Given the description of an element on the screen output the (x, y) to click on. 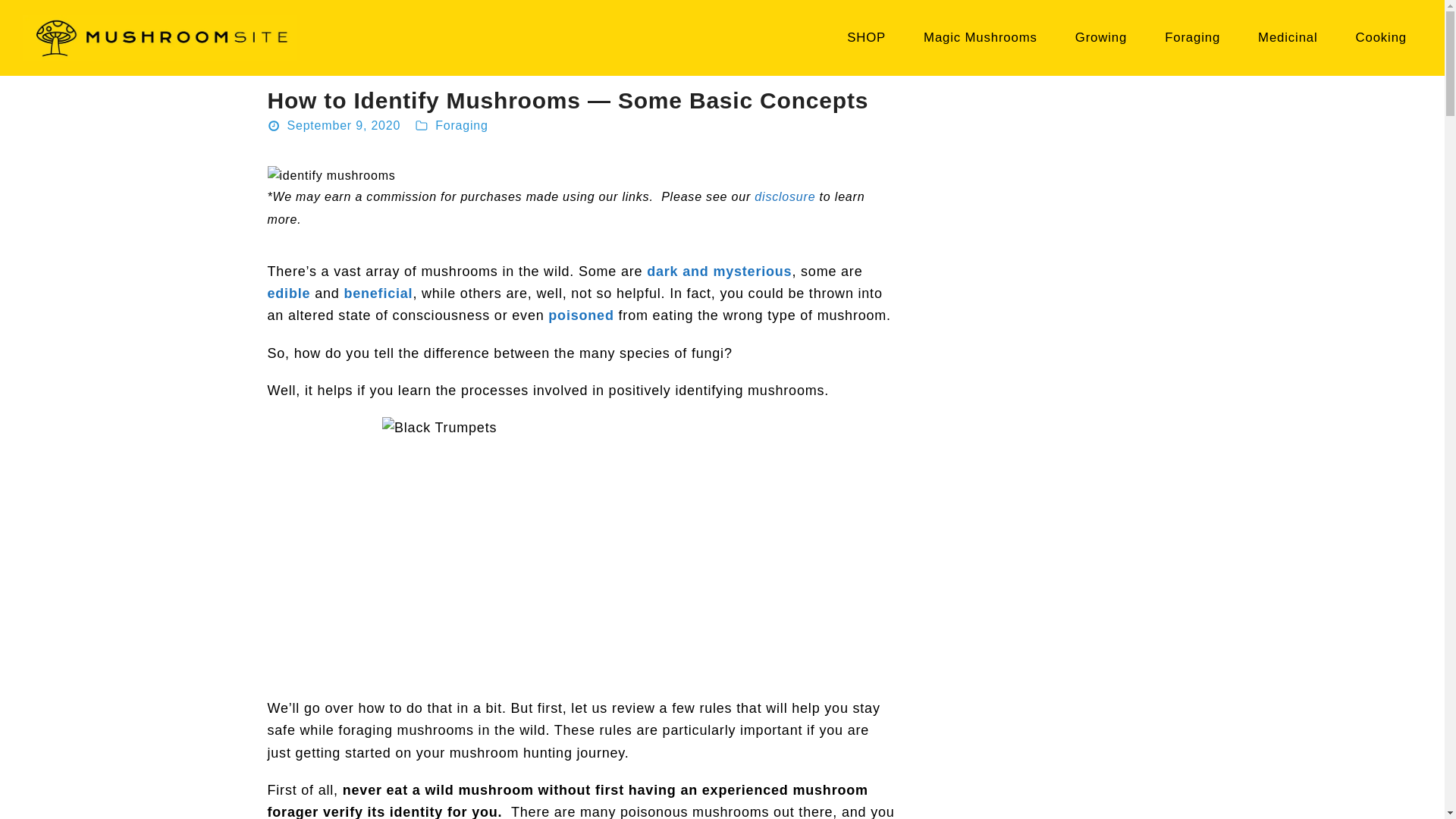
disclosure (784, 196)
poisoned (580, 314)
Foraging (461, 124)
Medicinal (1287, 37)
dark and mysterious (719, 271)
beneficial (377, 293)
edible (288, 293)
Foraging (1192, 37)
SHOP (866, 37)
Magic Mushrooms (980, 37)
Growing (1100, 37)
Cooking (1381, 37)
